Given the description of an element on the screen output the (x, y) to click on. 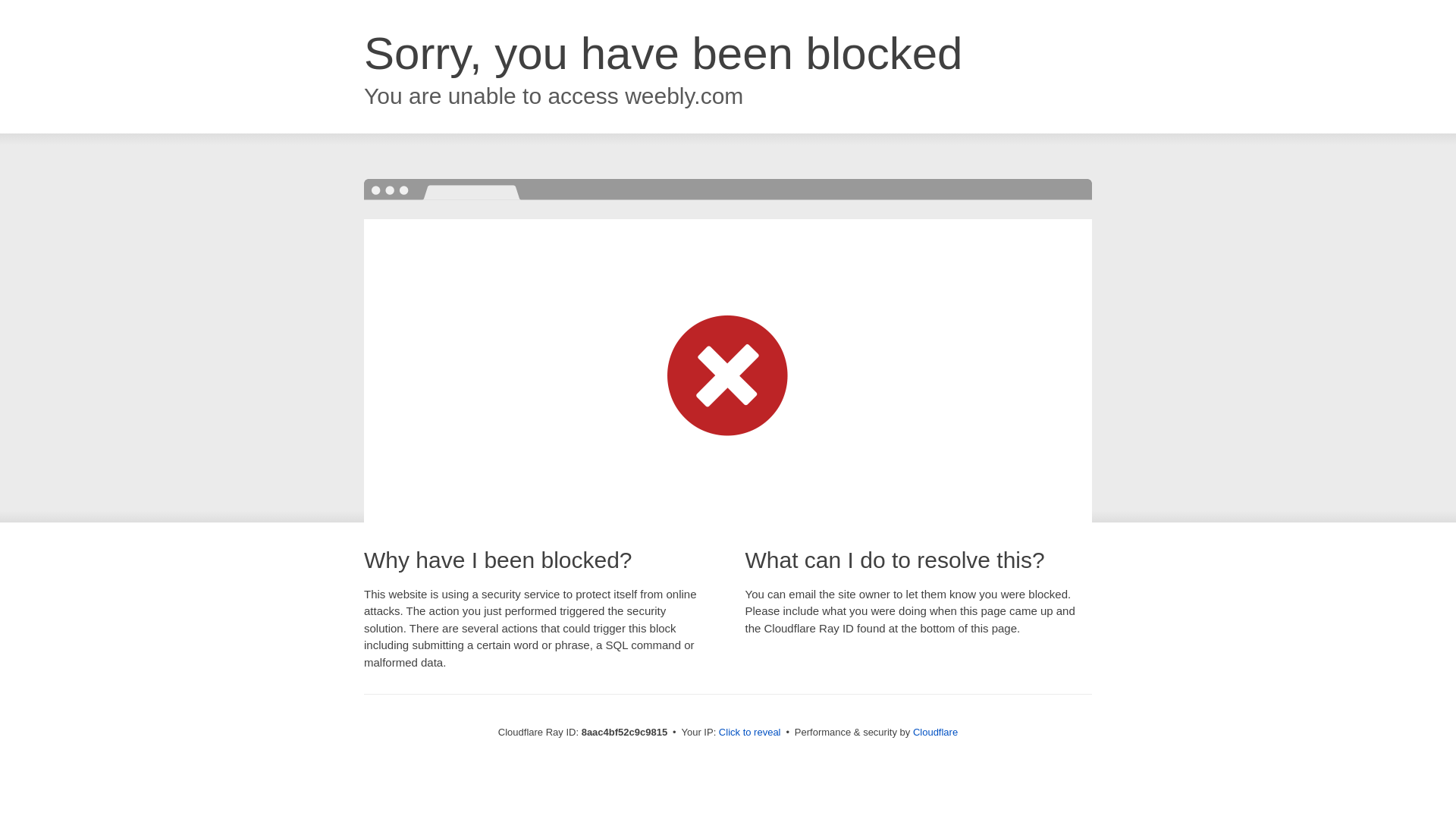
Click to reveal (749, 732)
Cloudflare (935, 731)
